Given the description of an element on the screen output the (x, y) to click on. 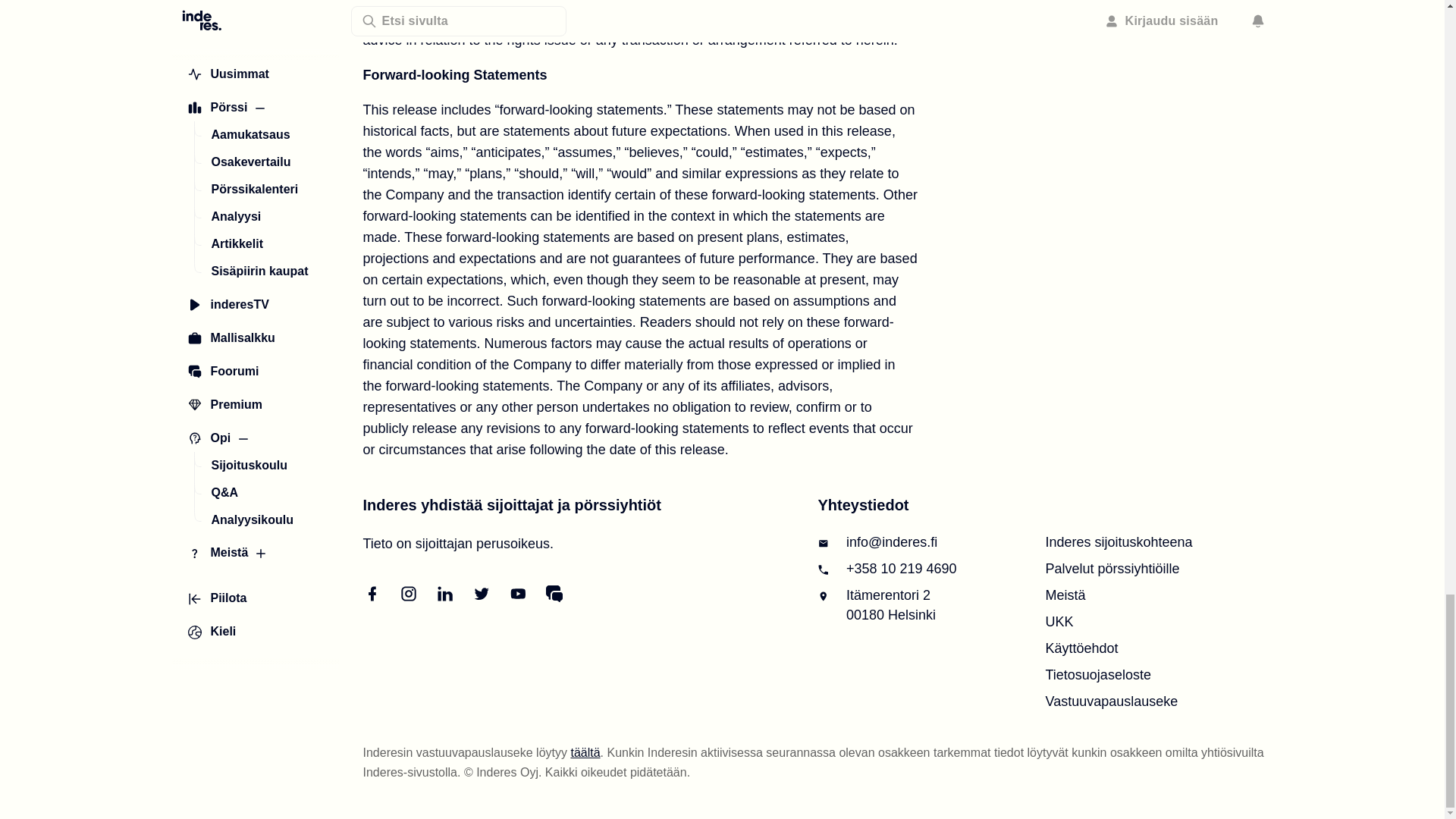
Inderes sijoituskohteena (1118, 541)
